Given the description of an element on the screen output the (x, y) to click on. 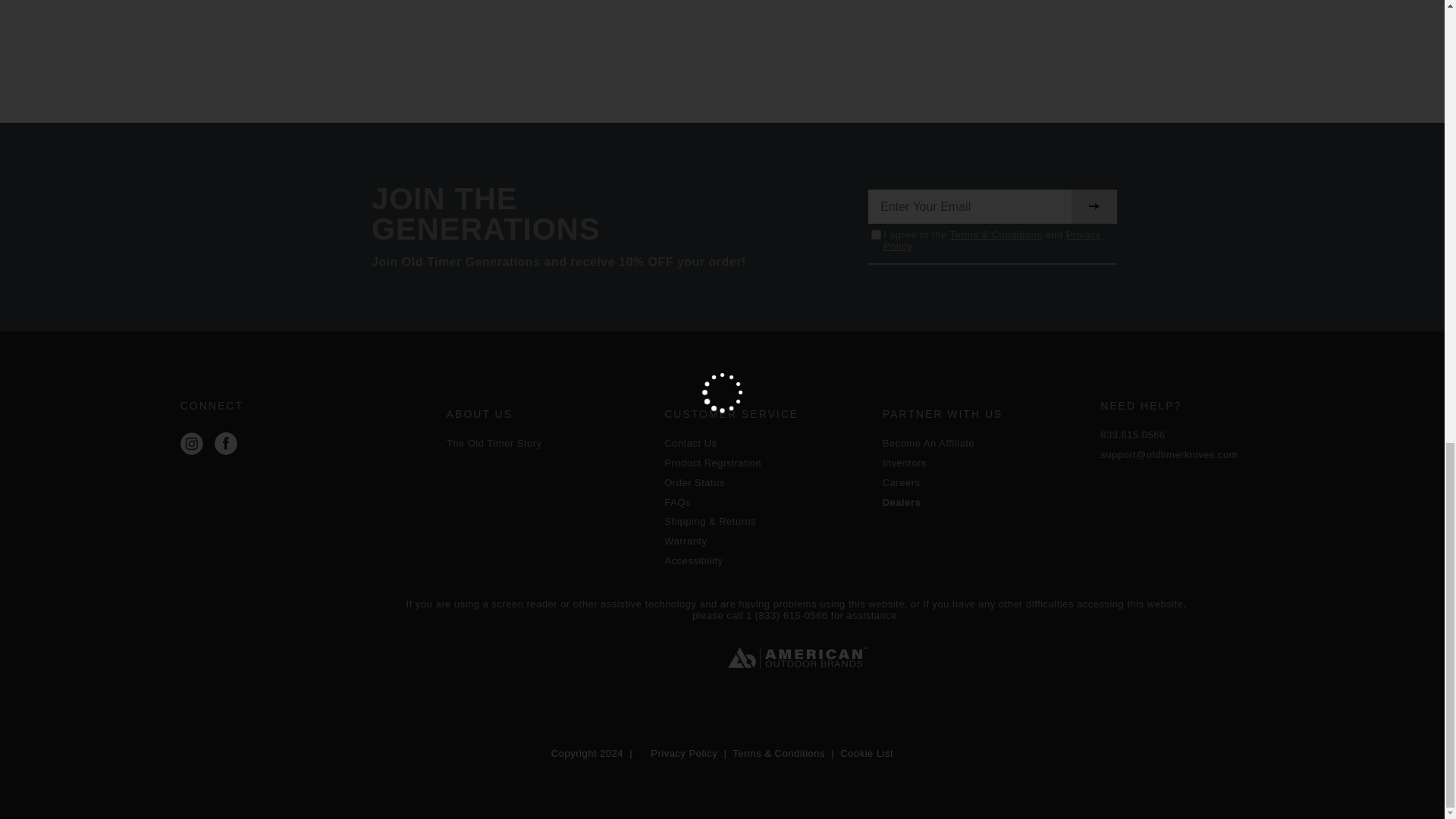
CUSTOMER SERVICE (765, 413)
ABOUT US (547, 413)
Contact Us (765, 442)
The Old Timer Story (547, 442)
on (875, 234)
Product Registration (765, 462)
Privacy Policy (991, 240)
Order Status (765, 482)
FAQs (765, 501)
SUBSCRIBE (1093, 206)
